Given the description of an element on the screen output the (x, y) to click on. 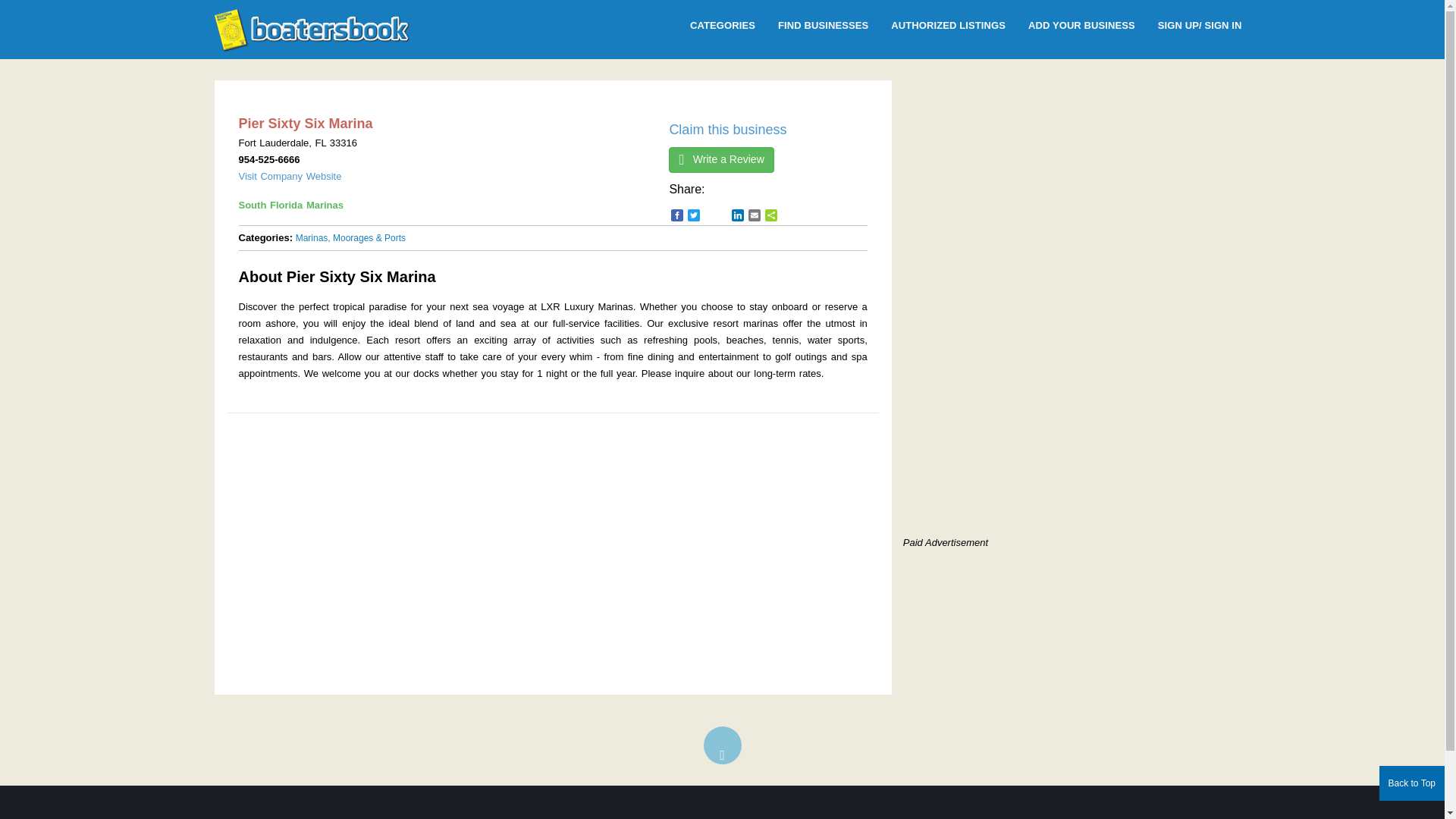
Advertisement (1029, 422)
CATEGORIES (722, 25)
FIND BUSINESSES (823, 25)
Visit Company Website (289, 175)
ADD YOUR BUSINESS (1081, 25)
954-525-6666 (268, 159)
Claim this business (727, 129)
   Write a Review (720, 159)
AUTHORIZED LISTINGS (947, 25)
